Given the description of an element on the screen output the (x, y) to click on. 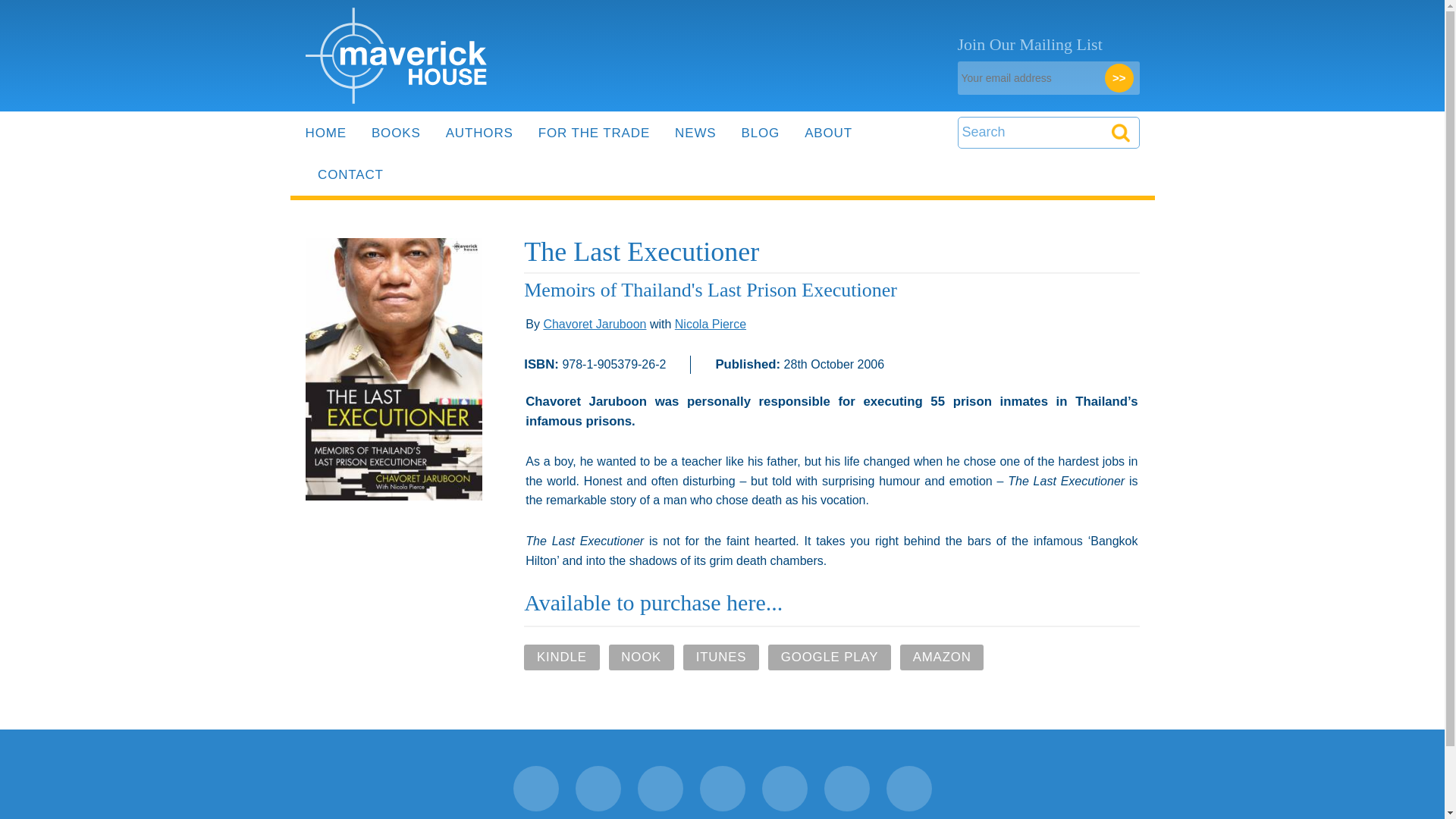
ITUNES (720, 657)
NEWS (695, 133)
Search (1120, 132)
Search (1029, 130)
BLOG (760, 133)
AUTHORS (479, 133)
ABOUT (828, 133)
BOOKS (395, 133)
AMAZON (941, 657)
Search (1029, 130)
